Given the description of an element on the screen output the (x, y) to click on. 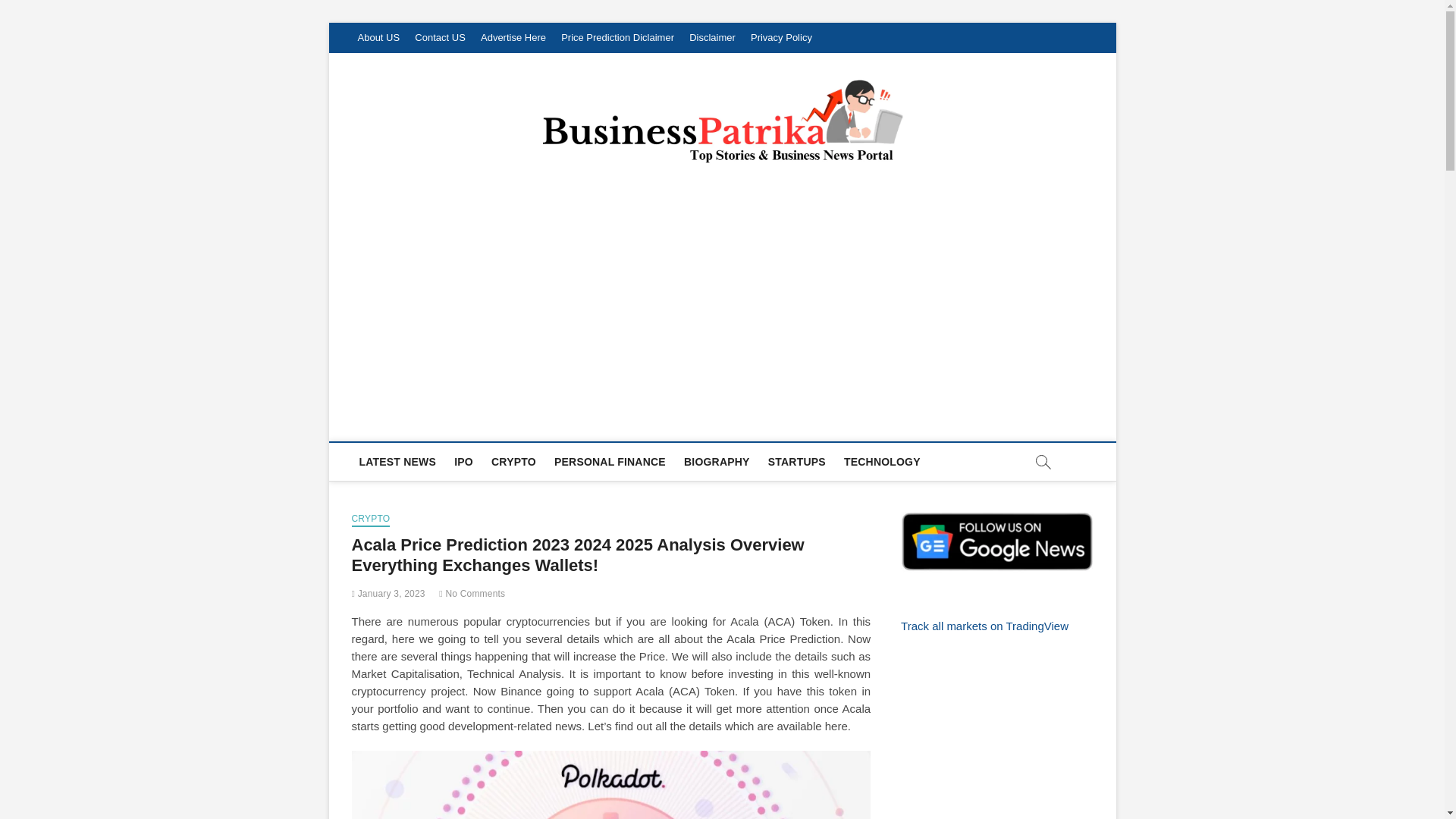
STARTUPS (796, 461)
Price Prediction Diclaimer (616, 37)
IPO (463, 461)
About US (379, 37)
Business Patrika (460, 423)
TECHNOLOGY (881, 461)
No Comments (472, 593)
Advertise Here (512, 37)
Business Patrika (460, 423)
BIOGRAPHY (717, 461)
Disclaimer (711, 37)
PERSONAL FINANCE (609, 461)
LATEST NEWS (398, 461)
January 3, 2023 (388, 593)
